Given the description of an element on the screen output the (x, y) to click on. 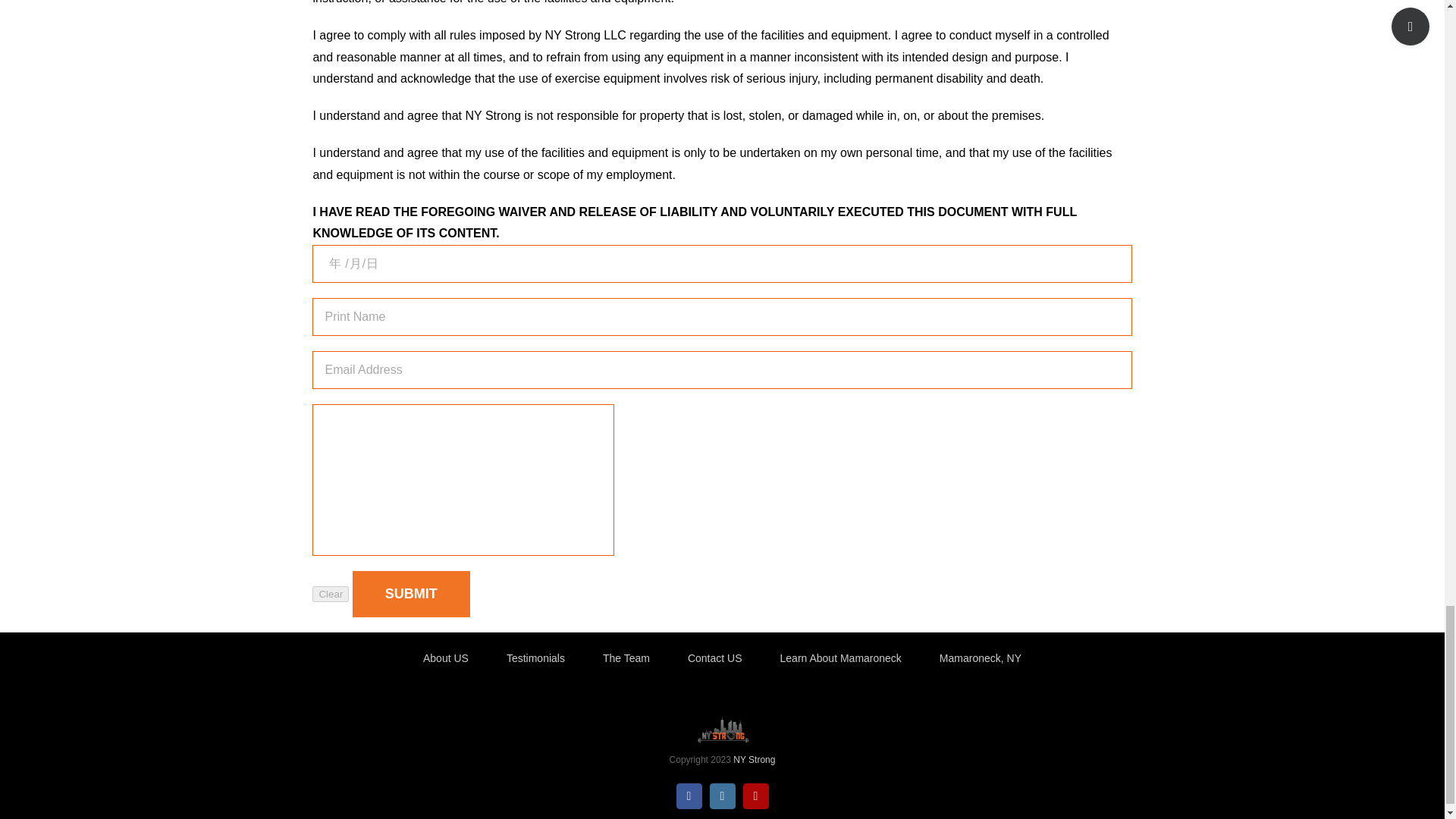
Facebook (689, 795)
Instagram (722, 795)
Yelp (755, 795)
Submit (411, 593)
